Given the description of an element on the screen output the (x, y) to click on. 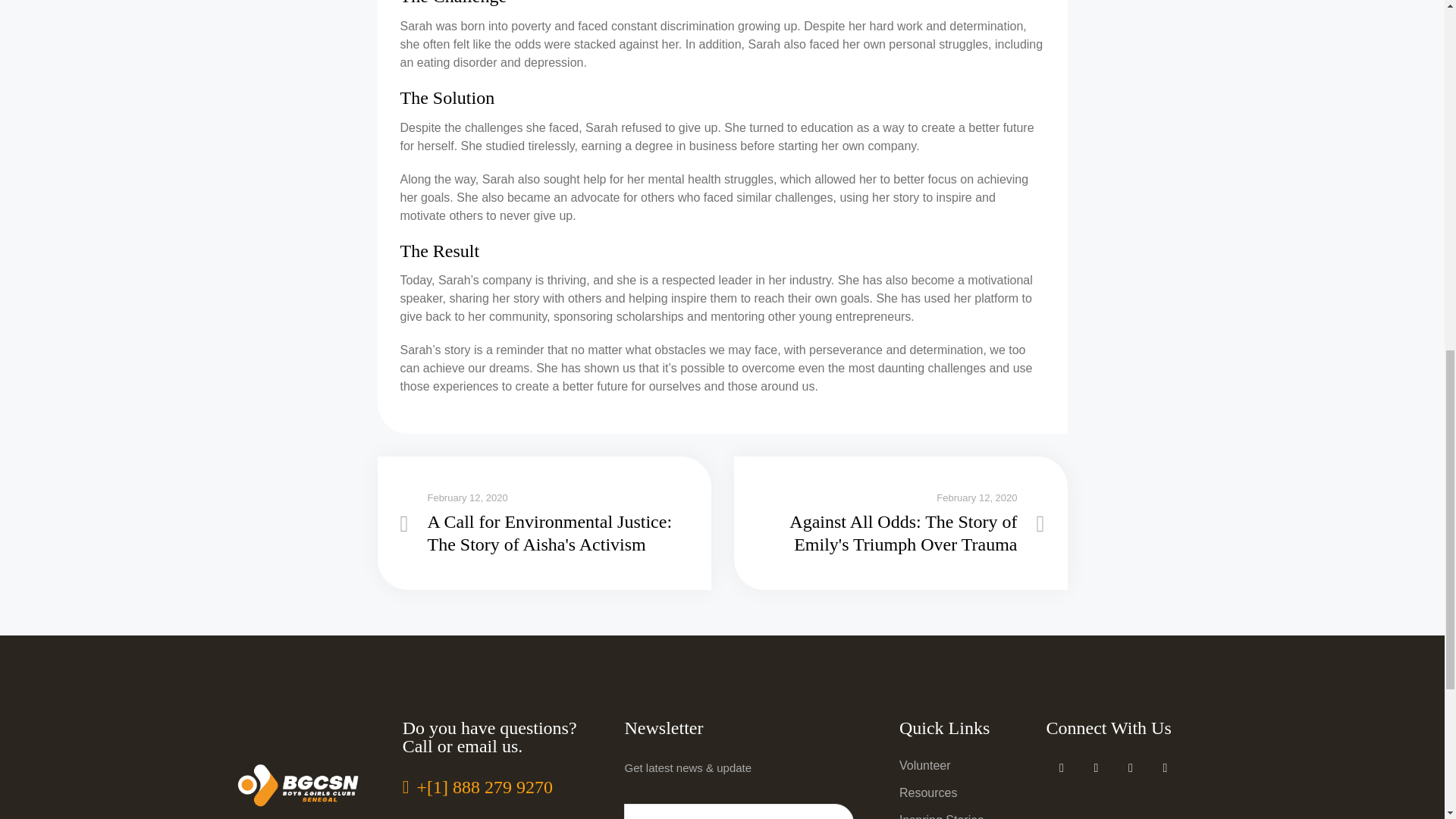
Volunteer (924, 765)
